Given the description of an element on the screen output the (x, y) to click on. 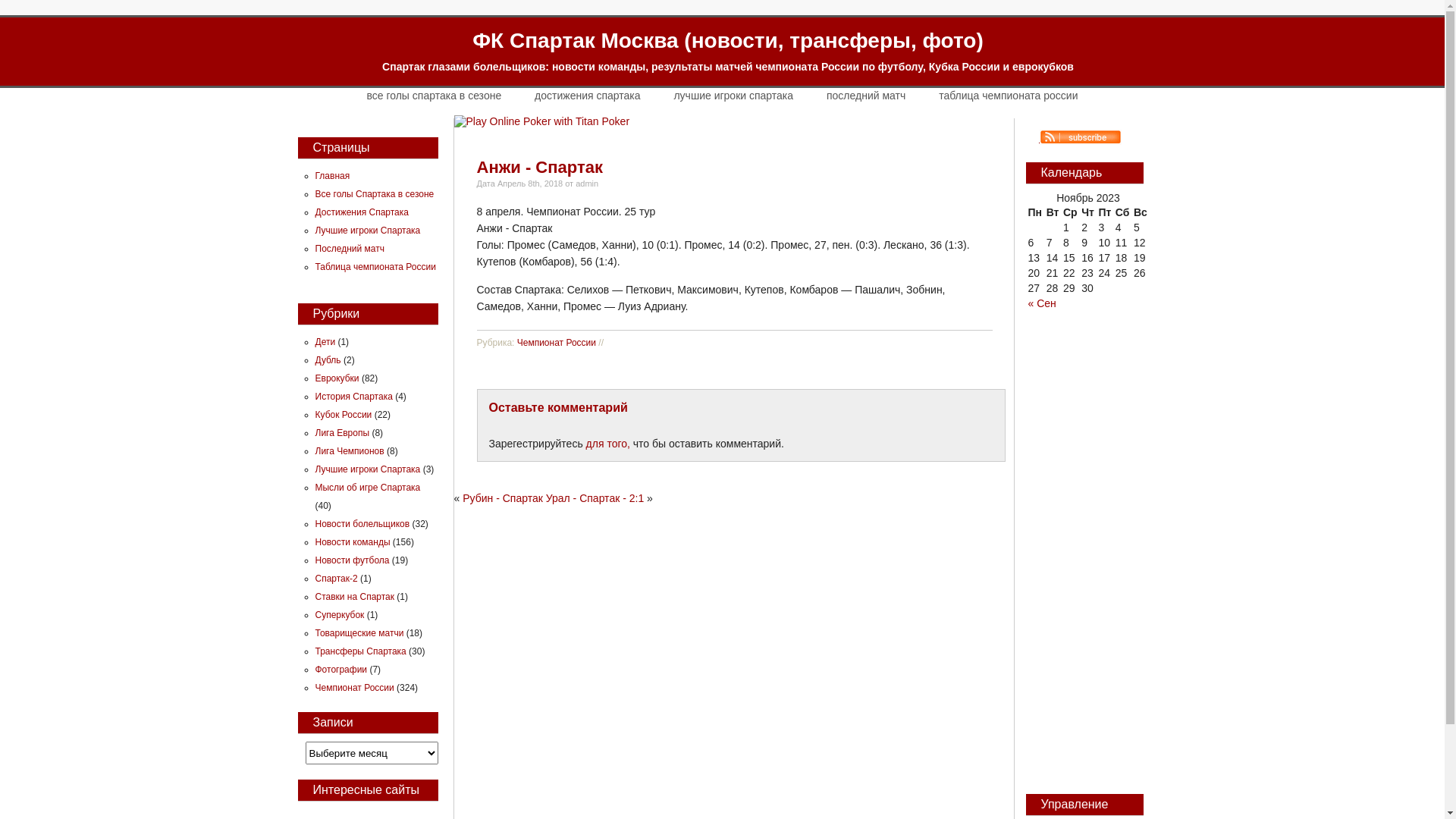
RSS Syndication Element type: text (1072, 138)
Play Online Poker with Titan Poker  Element type: hover (541, 121)
Advertisement Element type: hover (1082, 558)
